Given the description of an element on the screen output the (x, y) to click on. 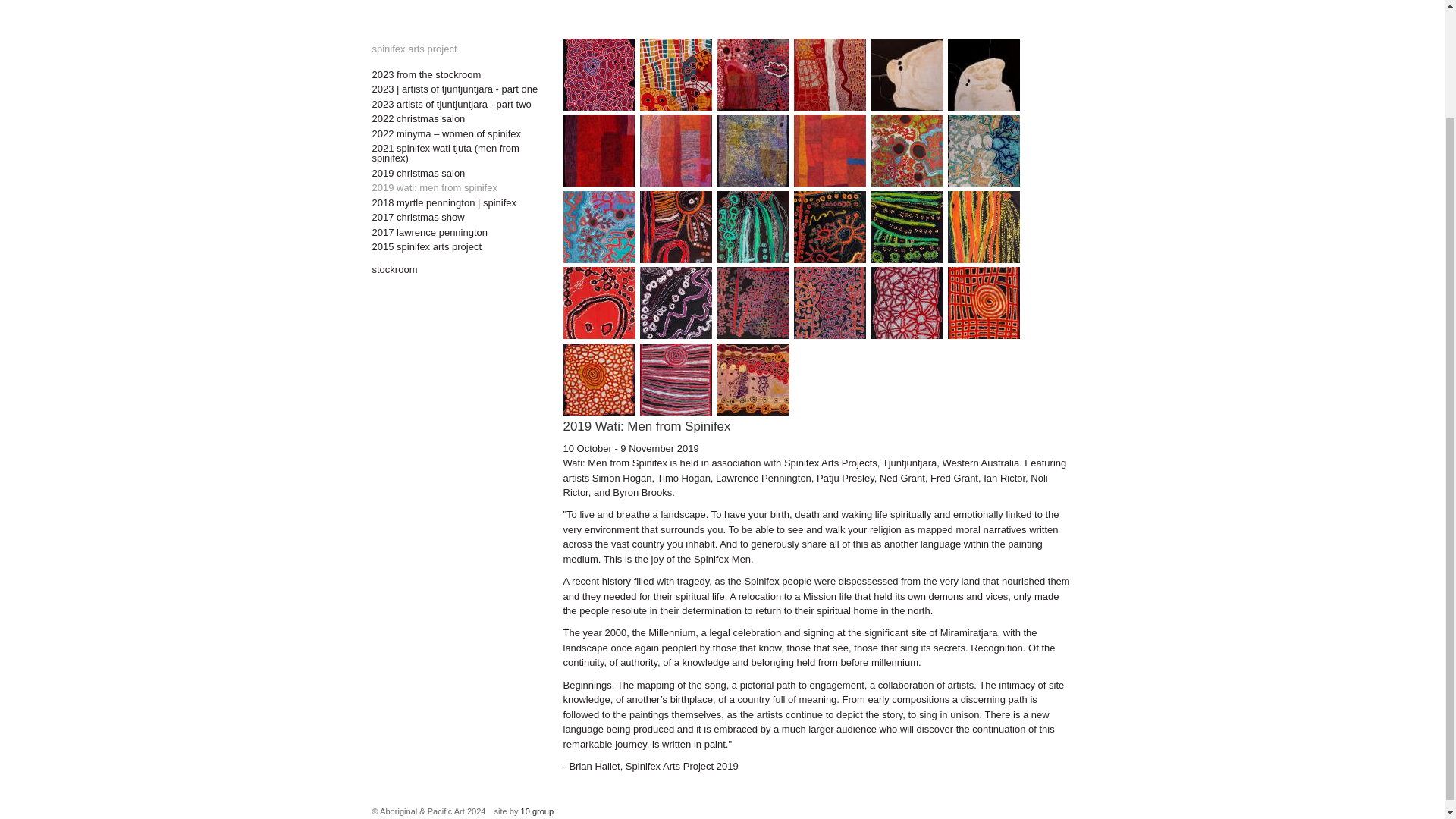
artists (427, 0)
2022 christmas salon (454, 118)
exhibitions (483, 0)
2023 from the stockroom (454, 74)
about (384, 0)
stockroom (549, 0)
news (601, 0)
2023 artists of tjuntjuntjara - part two (454, 103)
contact (647, 0)
